Given the description of an element on the screen output the (x, y) to click on. 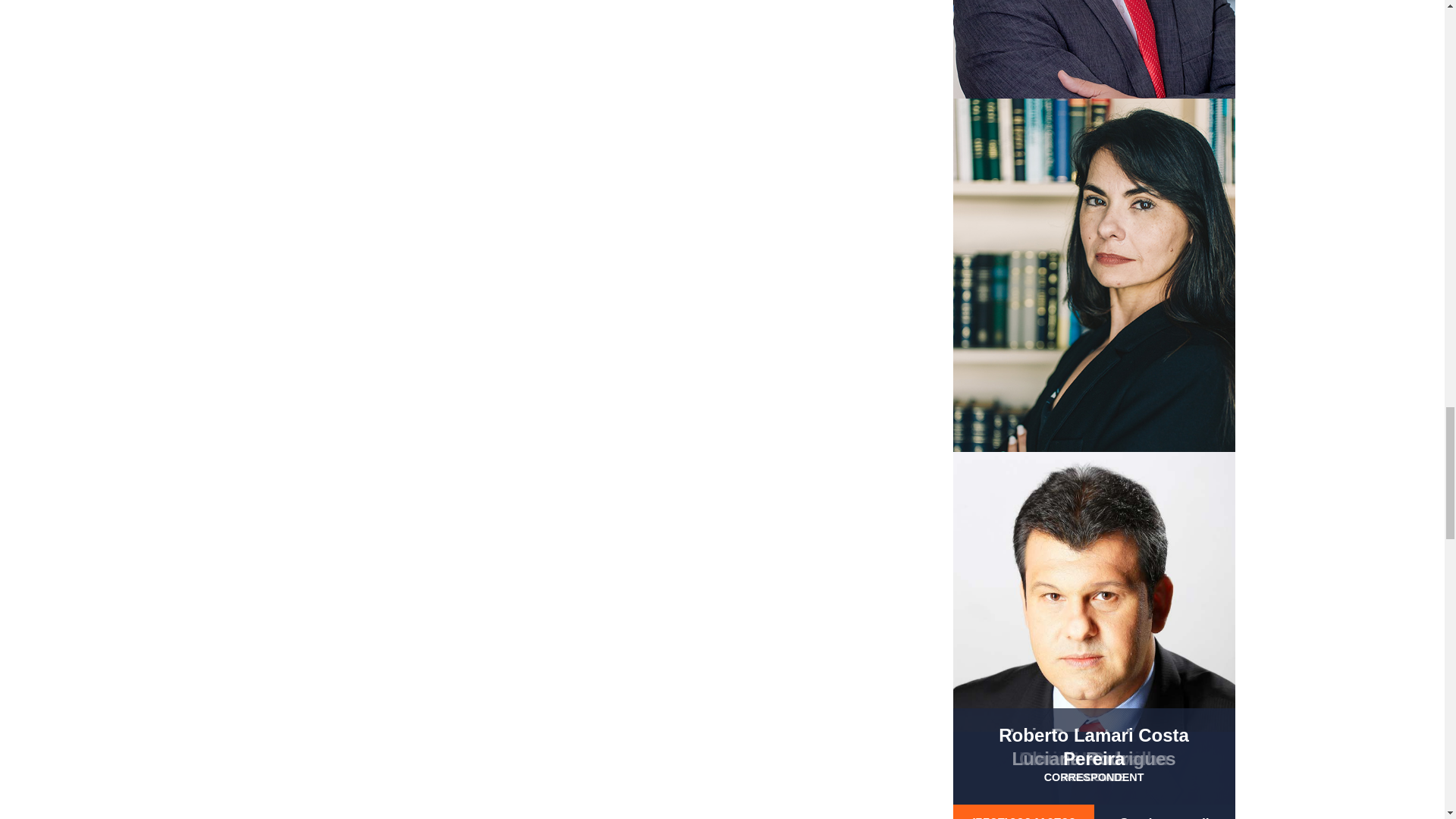
Claudio Carvalho (1093, 49)
